Given the description of an element on the screen output the (x, y) to click on. 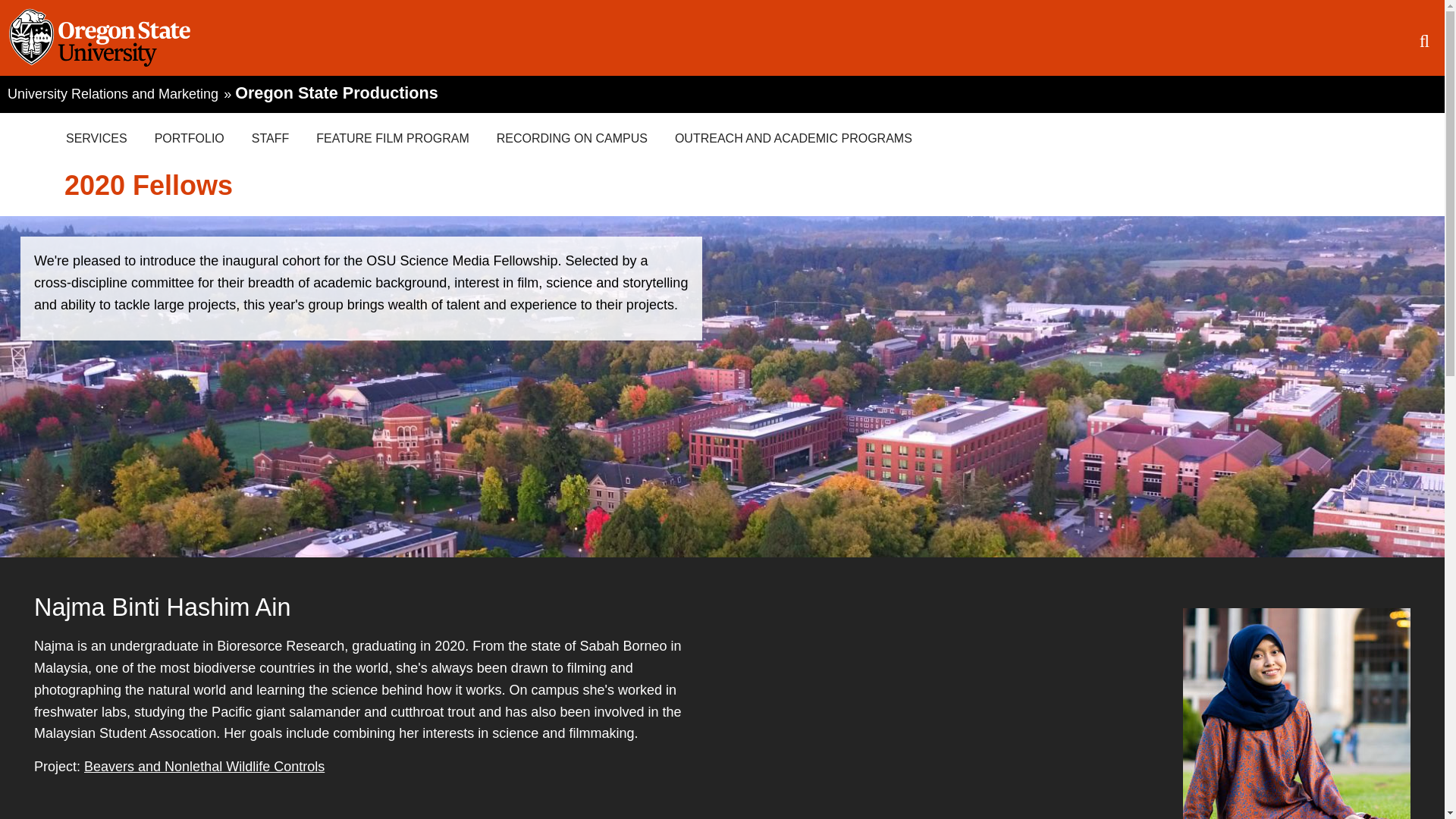
RECORDING ON CAMPUS (571, 138)
Beavers and Nonlethal Wildlife Controls (204, 766)
Oregon State Productions (336, 92)
PORTFOLIO (188, 138)
STAFF (270, 138)
OUTREACH AND ACADEMIC PROGRAMS (793, 138)
SERVICES (96, 138)
University Relations and Marketing (113, 93)
FEATURE FILM PROGRAM (392, 138)
